Given the description of an element on the screen output the (x, y) to click on. 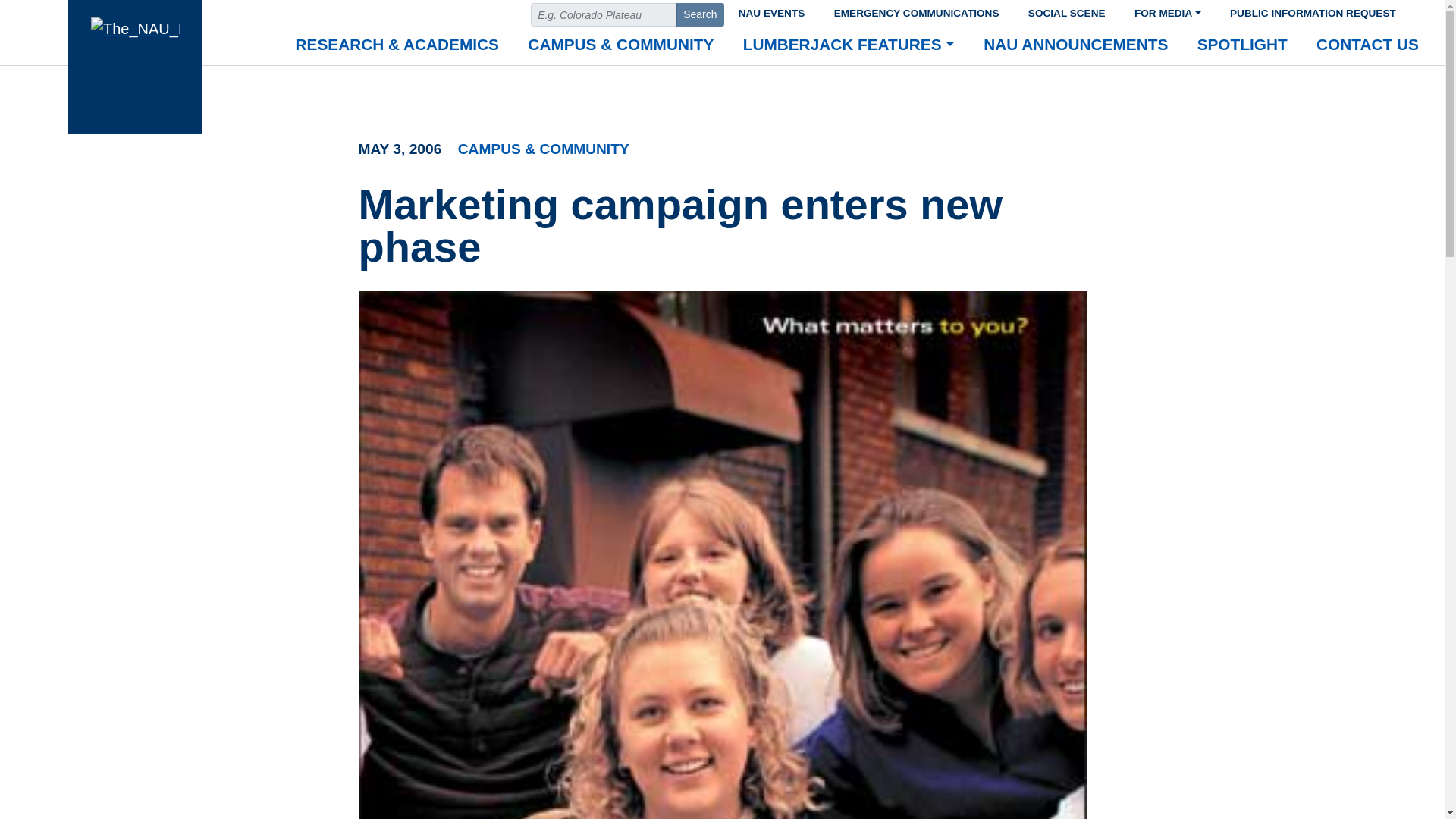
NAU Events (770, 10)
Search (700, 14)
NAU ANNOUNCEMENTS (1075, 45)
Emergency Communications (915, 10)
Social Scene (1066, 10)
SOCIAL SCENE (1066, 10)
For Media (1167, 10)
EMERGENCY COMMUNICATIONS (915, 10)
SPOTLIGHT (1241, 45)
NAU EVENTS (770, 10)
